Given the description of an element on the screen output the (x, y) to click on. 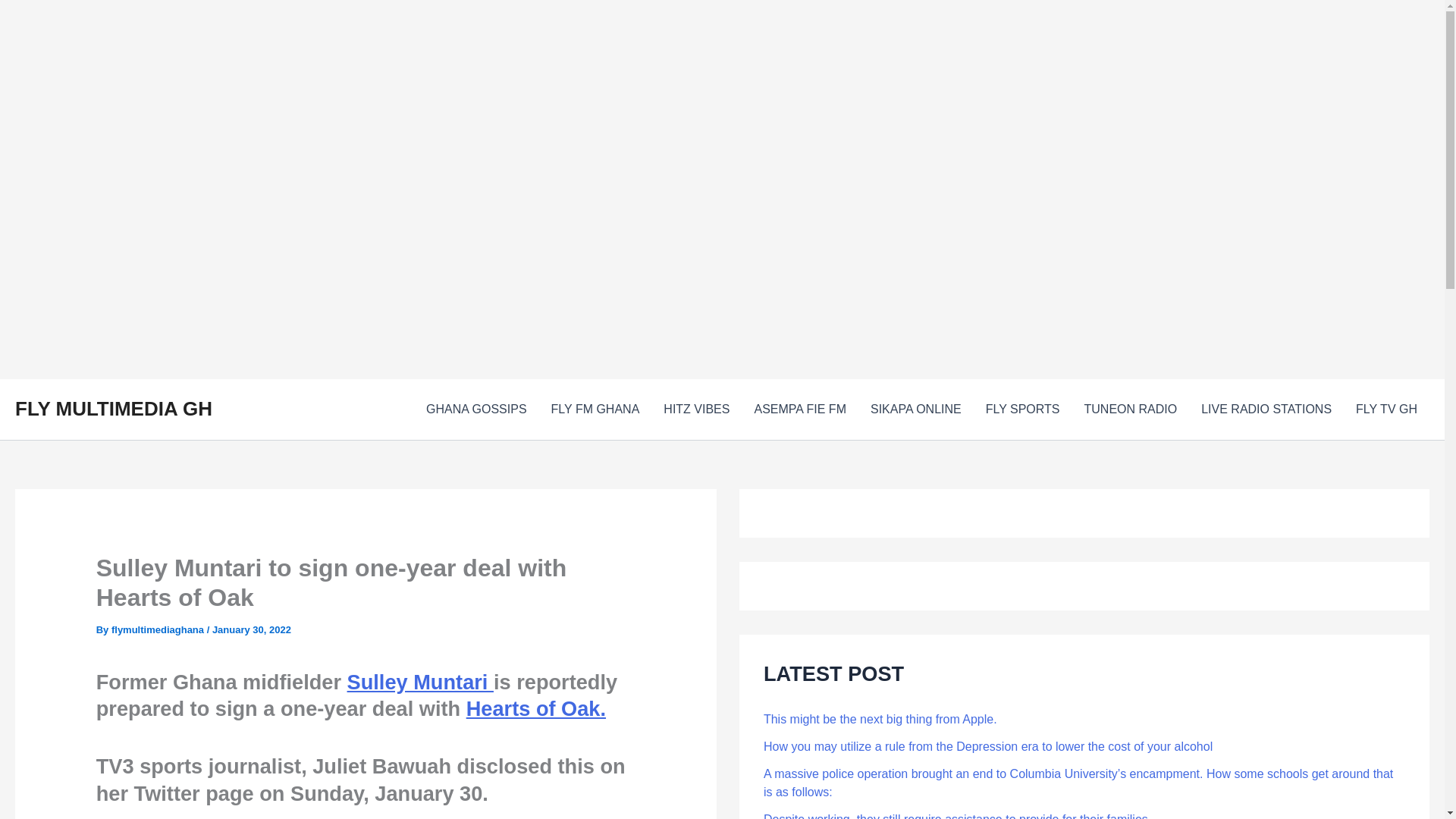
View all posts by flymultimediaghana (159, 629)
Sulley Muntari (420, 681)
HITZ VIBES (695, 409)
GHANA GOSSIPS (475, 409)
flymultimediaghana (159, 629)
Hearts of Oak. (535, 708)
LIVE RADIO STATIONS (1266, 409)
ASEMPA FIE FM (800, 409)
FLY SPORTS (1022, 409)
FLY FM GHANA (595, 409)
